Given the description of an element on the screen output the (x, y) to click on. 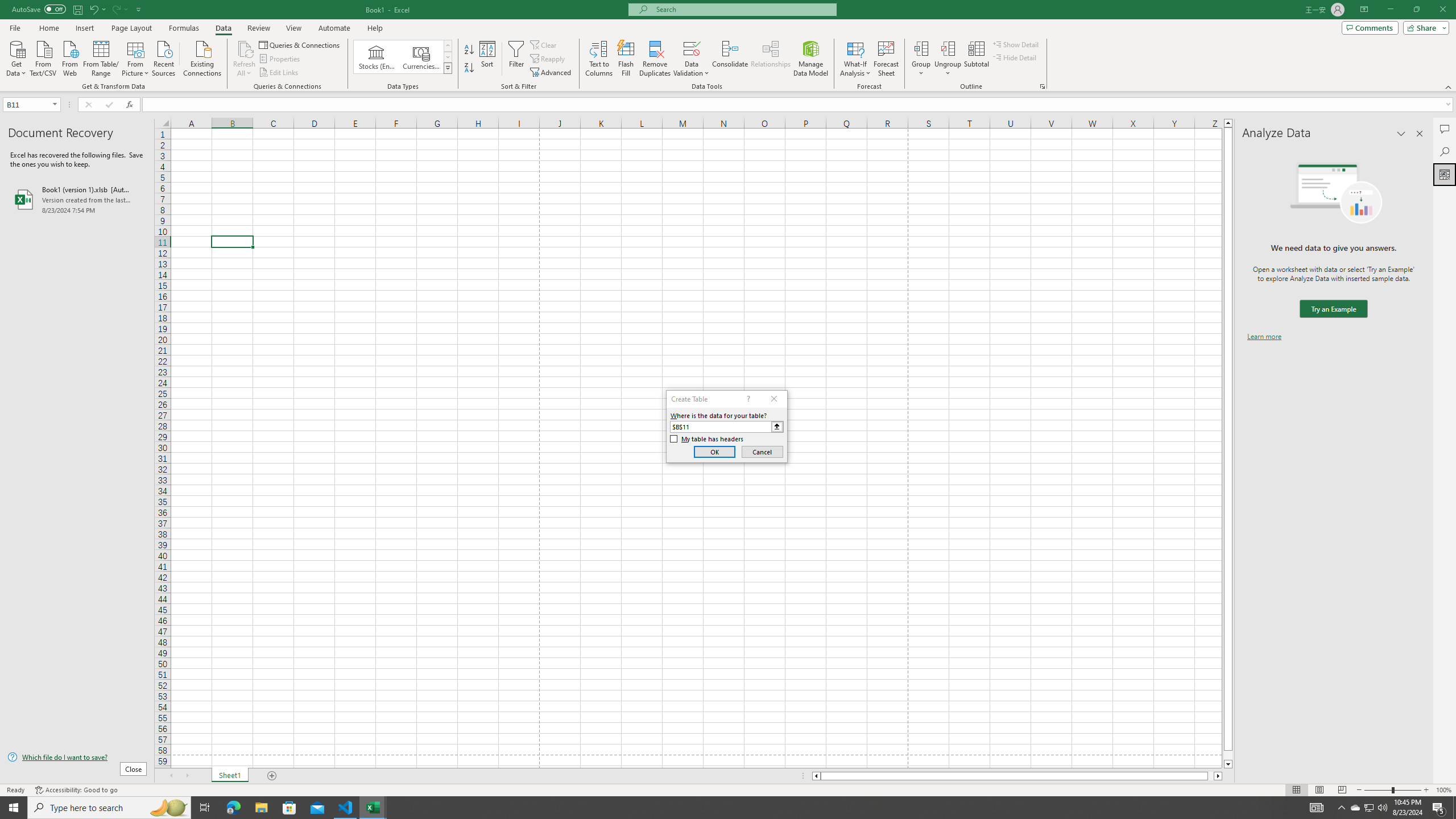
Consolidate... (729, 58)
